Given the description of an element on the screen output the (x, y) to click on. 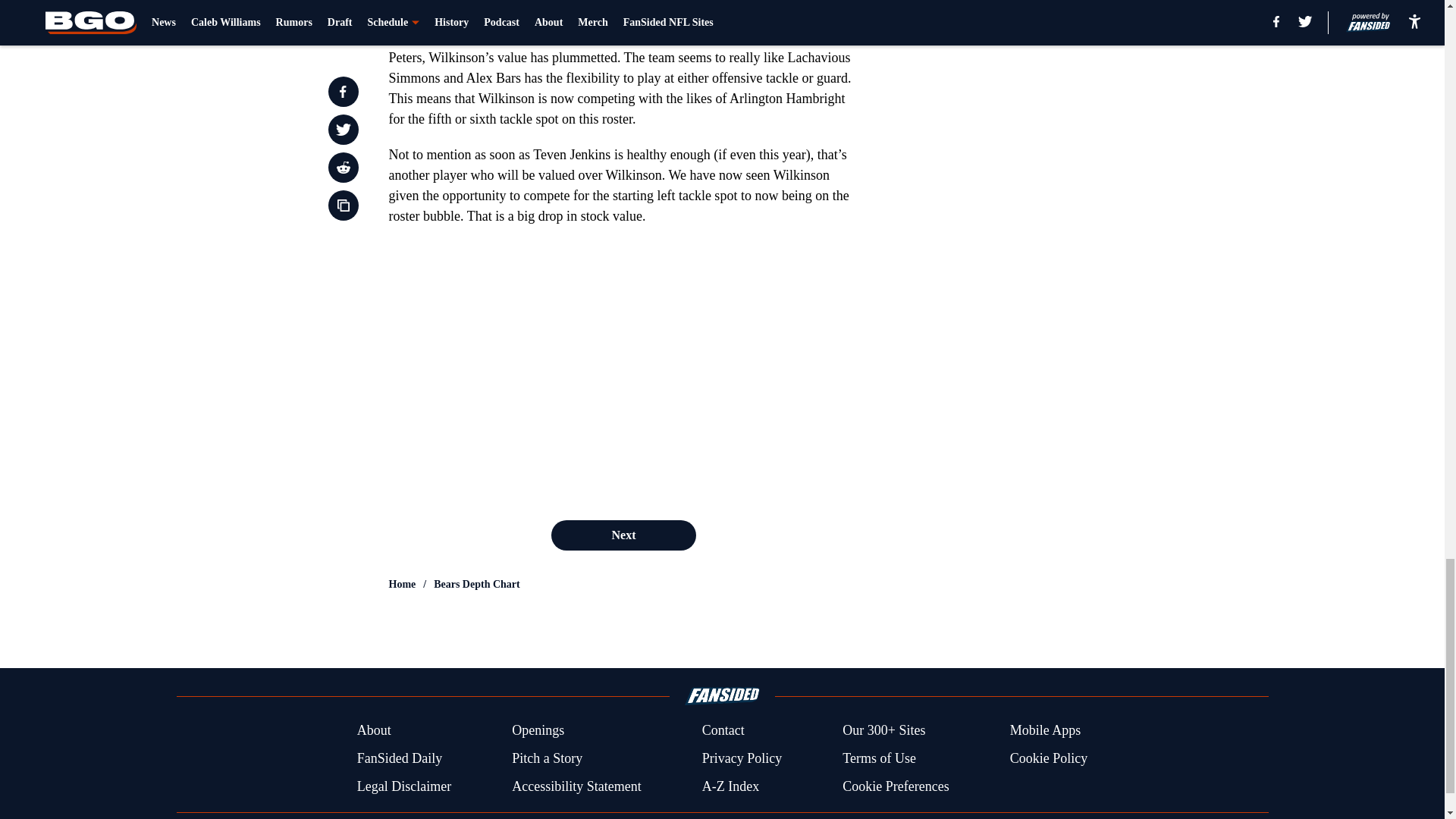
Bears Depth Chart (476, 584)
Pitch a Story (547, 758)
Home (401, 584)
Openings (538, 730)
FanSided Daily (399, 758)
Mobile Apps (1045, 730)
Contact (722, 730)
About (373, 730)
Privacy Policy (742, 758)
Next (622, 535)
